Given the description of an element on the screen output the (x, y) to click on. 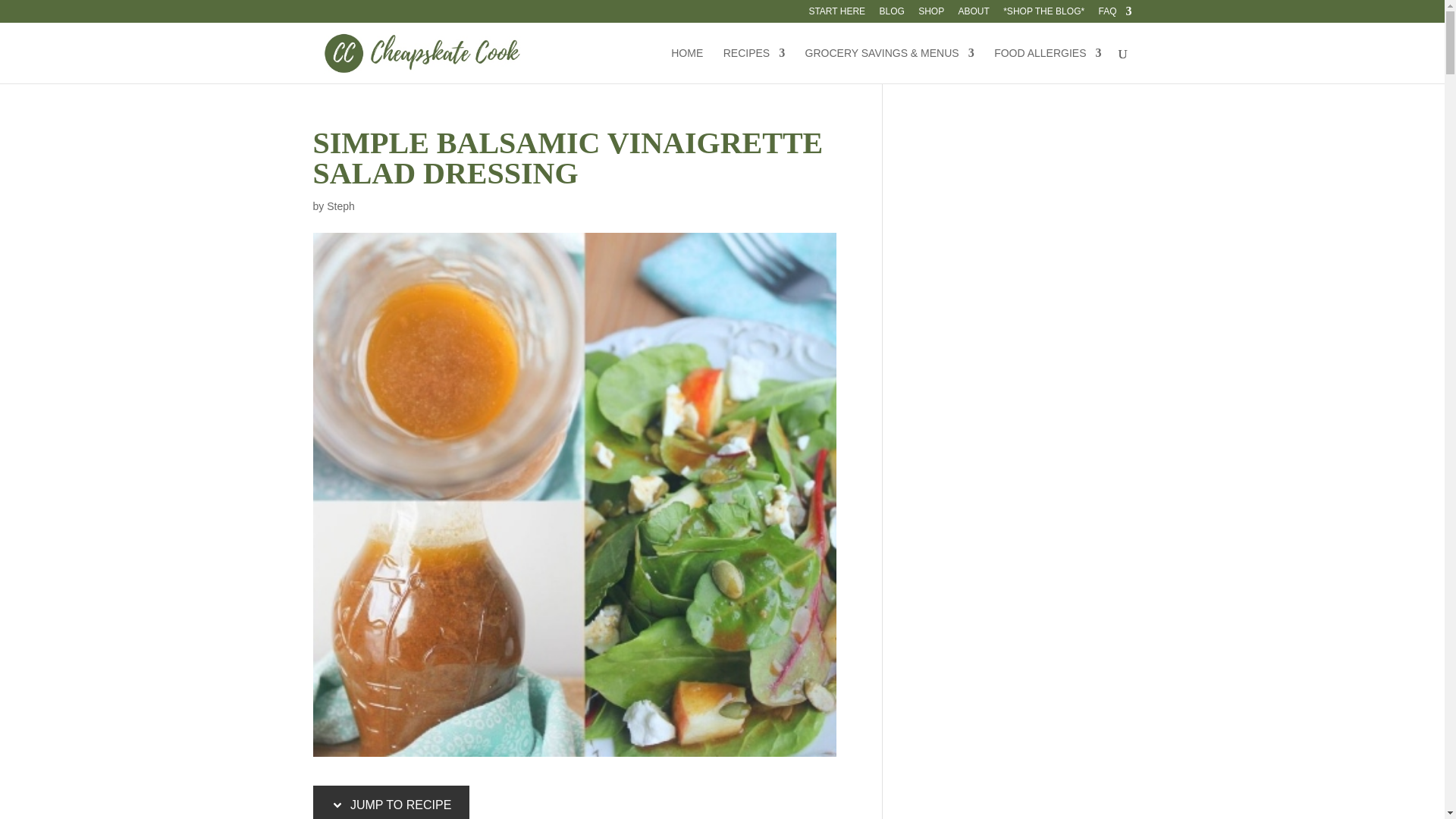
FOOD ALLERGIES (1047, 65)
RECIPES (753, 65)
BLOG (891, 14)
SHOP (930, 14)
FAQ (1114, 14)
ABOUT (974, 14)
Posts by Steph (340, 205)
START HERE (836, 14)
HOME (687, 65)
